Given the description of an element on the screen output the (x, y) to click on. 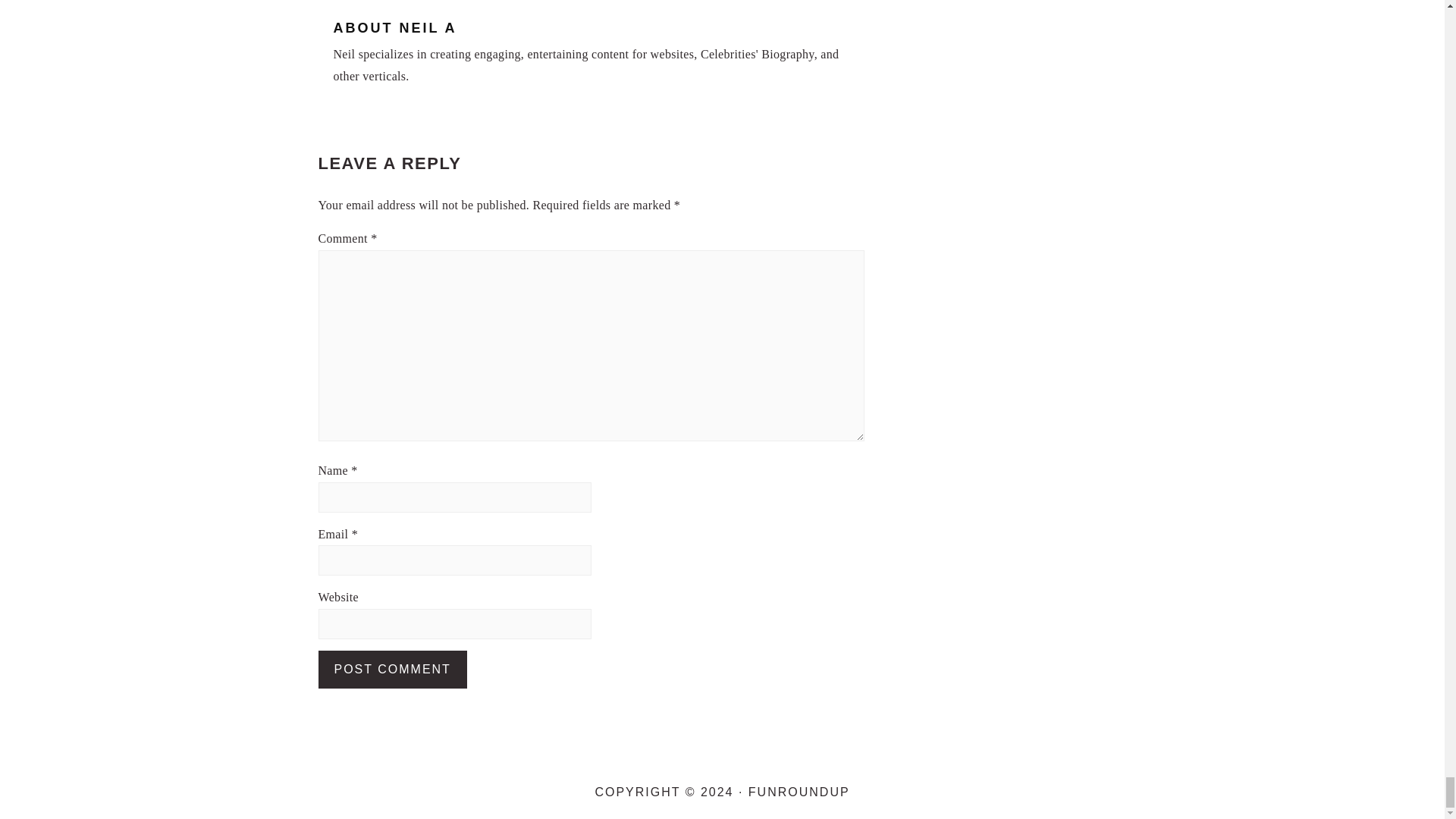
Post Comment (392, 669)
Post Comment (392, 669)
